Given the description of an element on the screen output the (x, y) to click on. 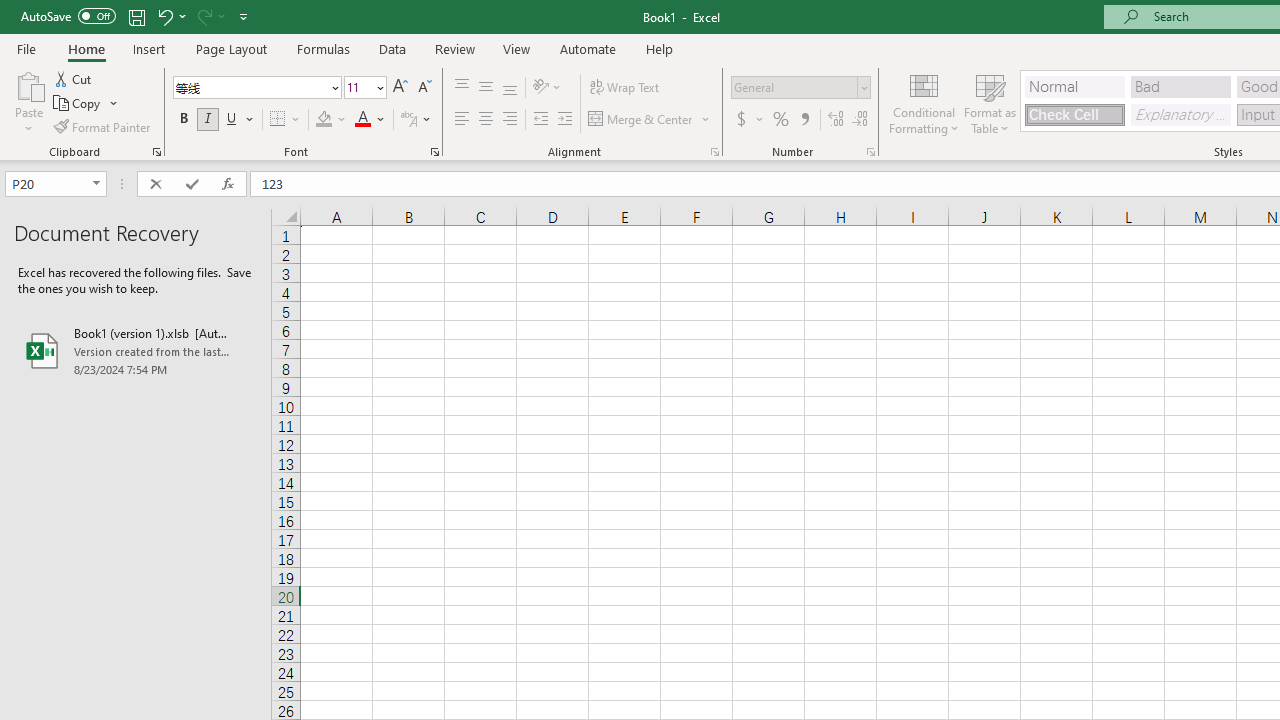
Conditional Formatting (924, 102)
Explanatory Text (1180, 114)
Paste (28, 102)
Increase Font Size (399, 87)
Fill Color RGB(255, 255, 0) (324, 119)
Underline (239, 119)
Font Color (370, 119)
Orientation (547, 87)
Merge & Center (649, 119)
Borders (285, 119)
Copy (78, 103)
